Given the description of an element on the screen output the (x, y) to click on. 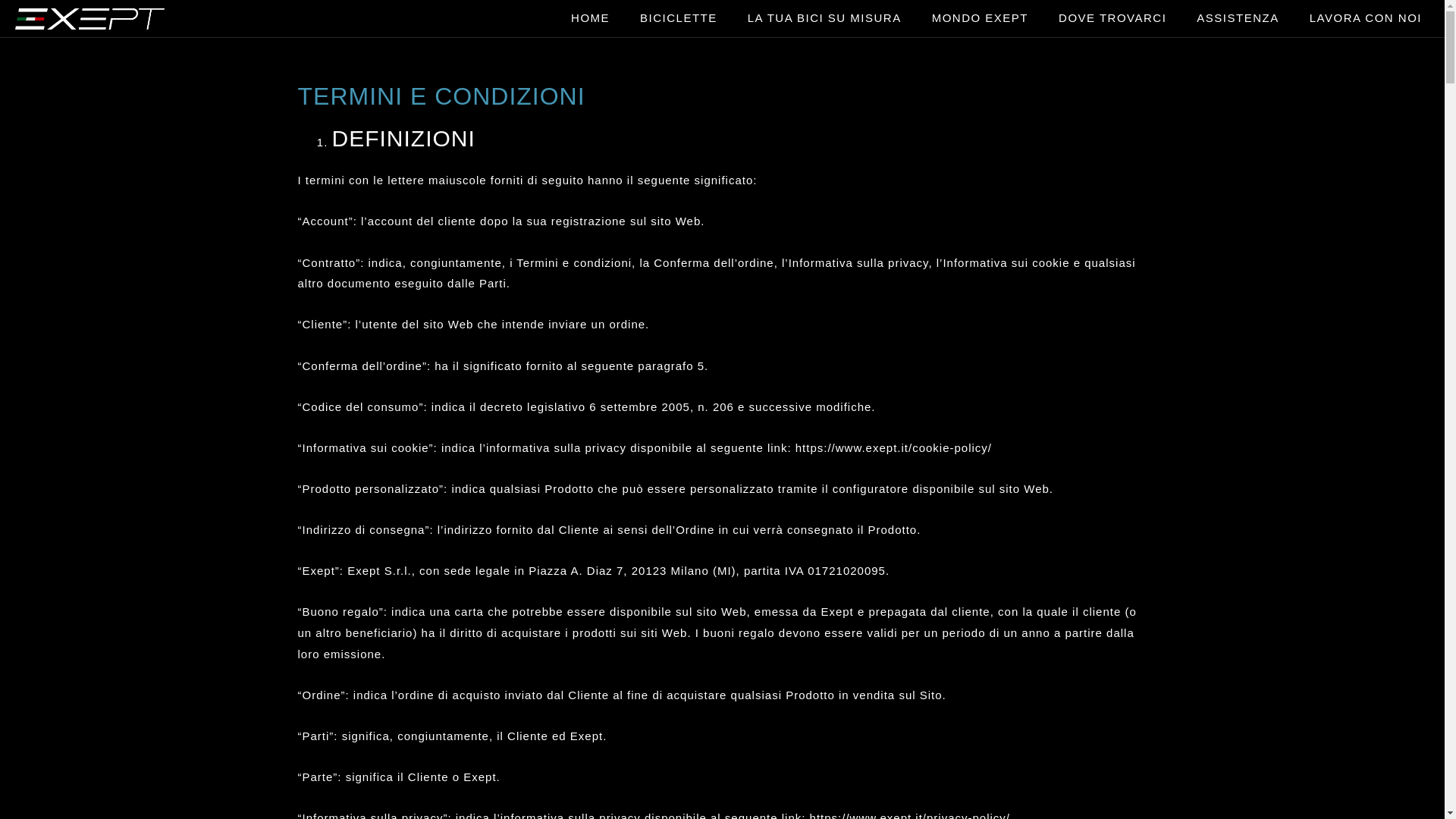
Exept bici in carbonio Element type: hover (197, 18)
BICICLETTE Element type: text (678, 17)
ASSISTENZA Element type: text (1237, 17)
MONDO EXEPT Element type: text (979, 17)
LAVORA CON NOI Element type: text (1365, 17)
LA TUA BICI SU MISURA Element type: text (824, 17)
HOME Element type: text (589, 17)
DOVE TROVARCI Element type: text (1112, 17)
